Given the description of an element on the screen output the (x, y) to click on. 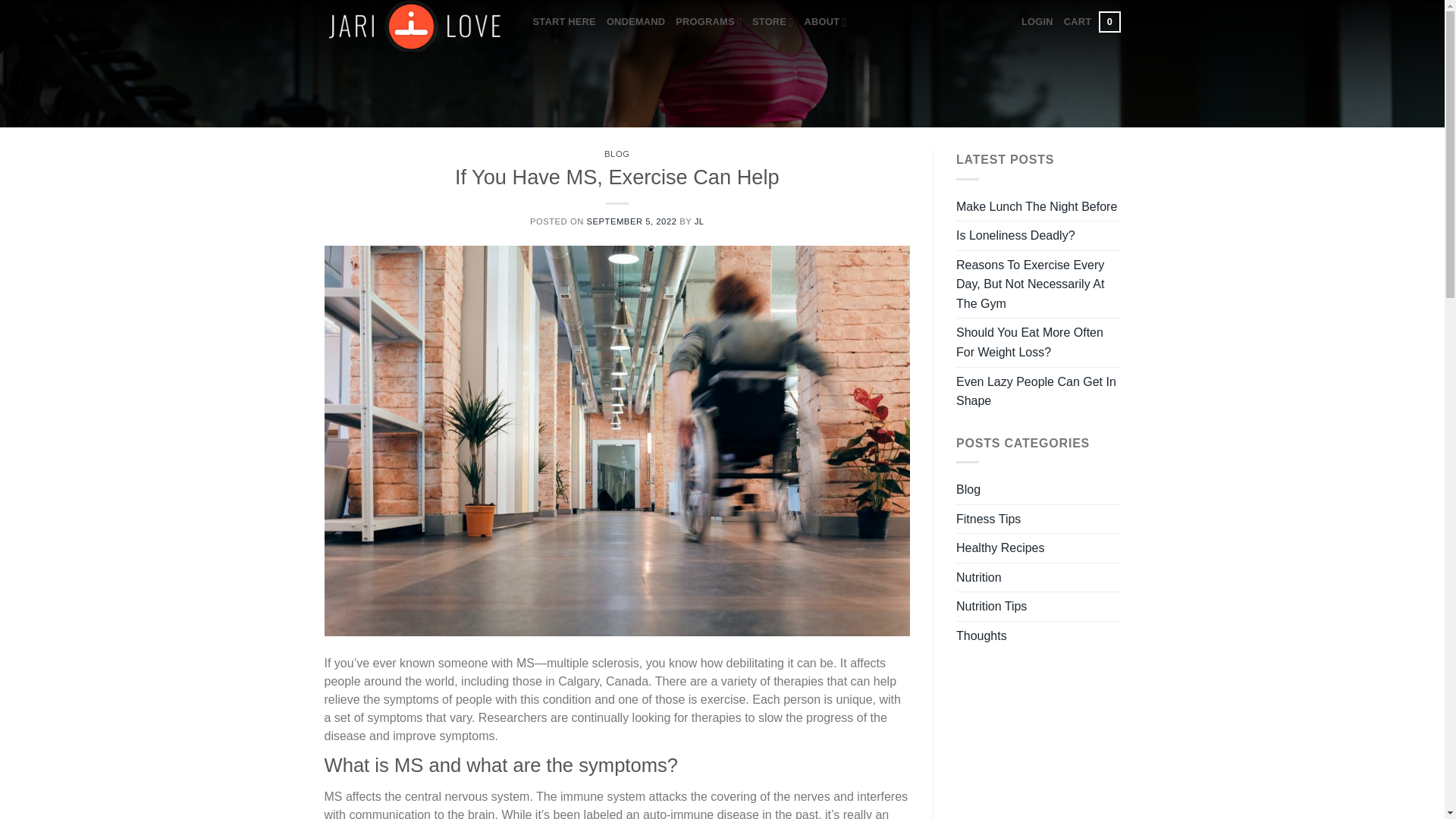
Cart (1092, 21)
START HERE (1092, 21)
BLOG (563, 22)
STORE (616, 153)
ONDEMAND (772, 21)
LOGIN (636, 22)
SEPTEMBER 5, 2022 (1037, 22)
ABOUT (631, 221)
PROGRAMS (824, 21)
JL (708, 21)
